Given the description of an element on the screen output the (x, y) to click on. 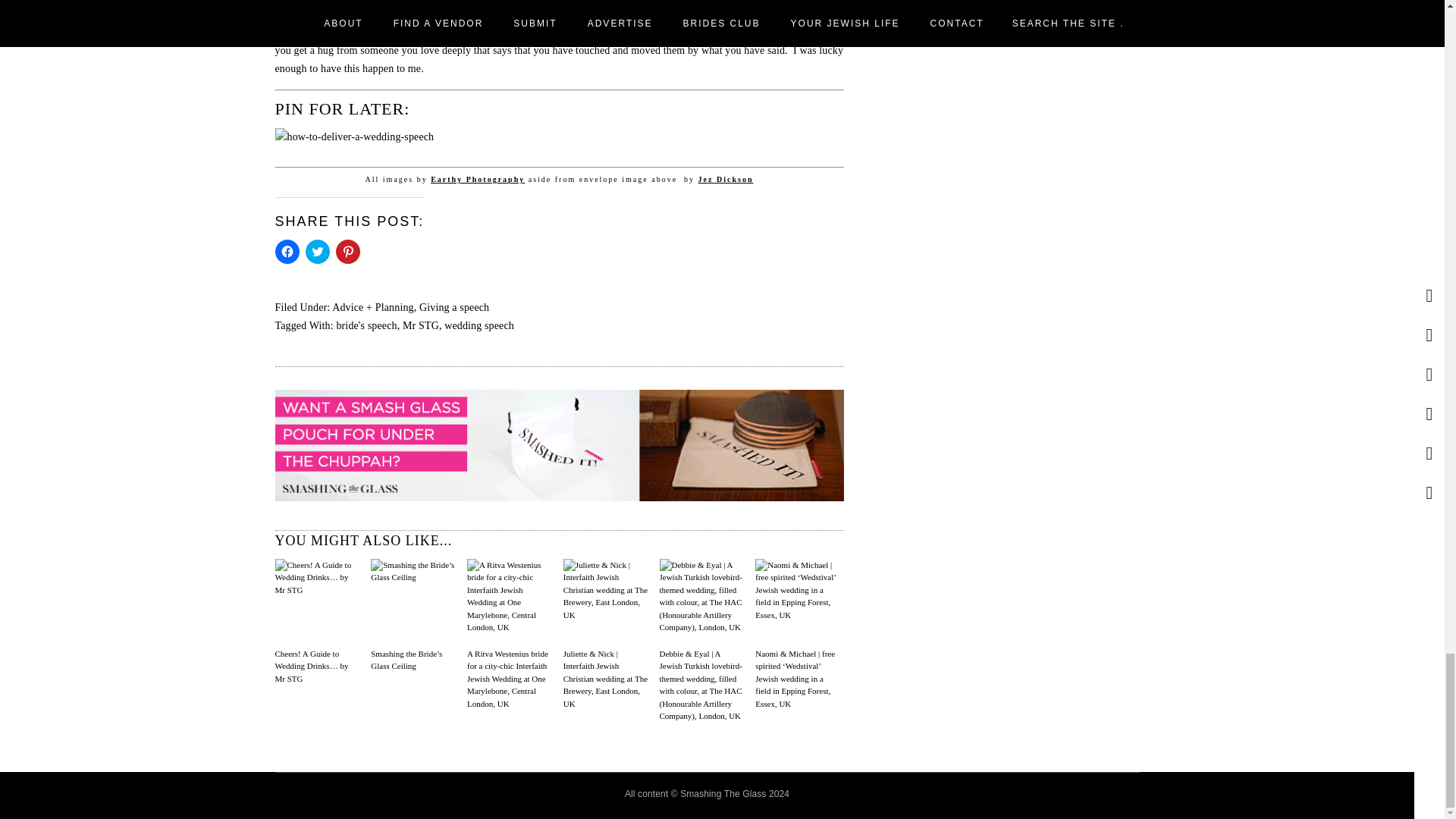
Click to share on Twitter (316, 251)
Click to share on Pinterest (346, 251)
Click to share on Facebook (286, 251)
